Given the description of an element on the screen output the (x, y) to click on. 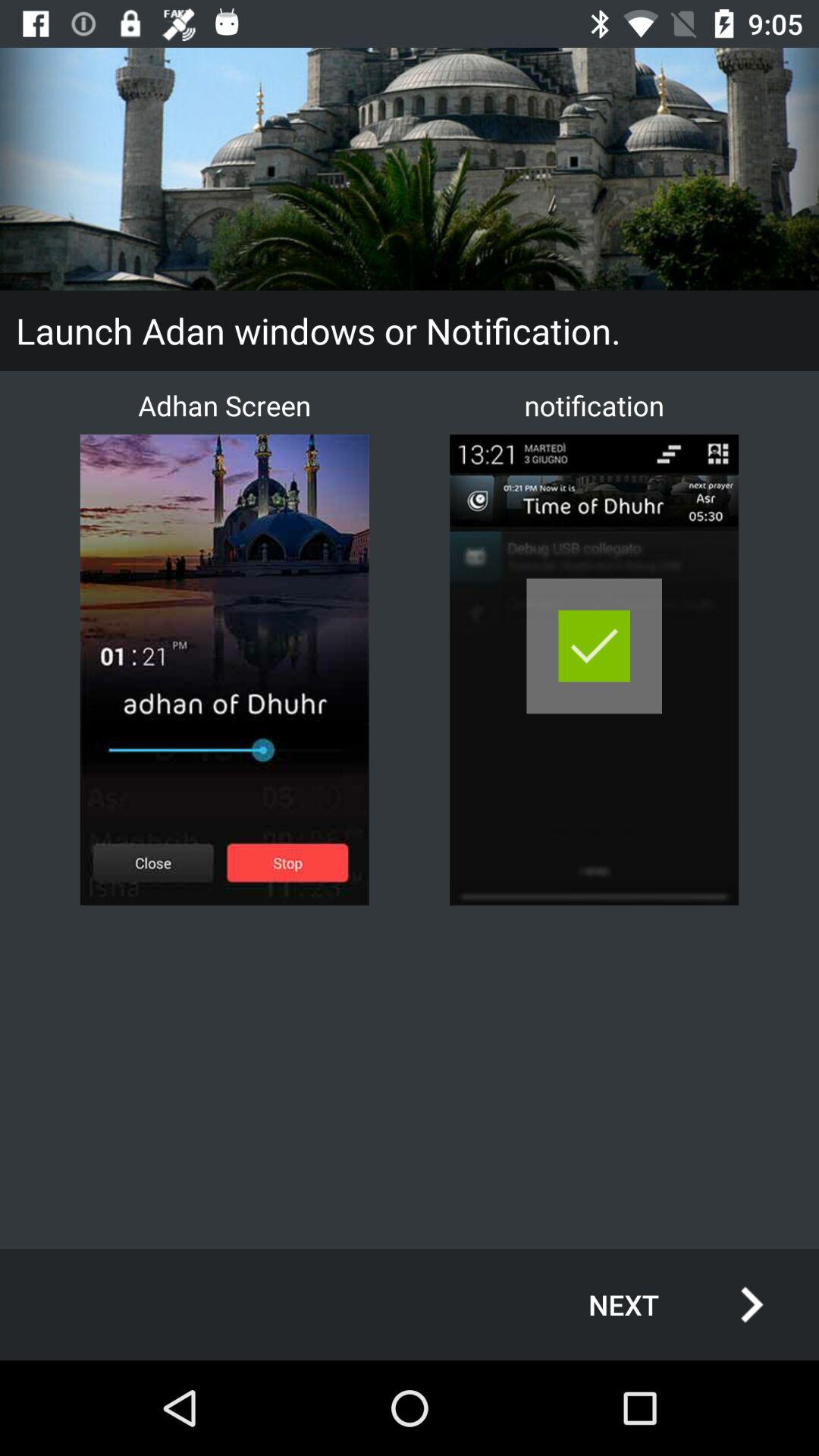
click next (659, 1304)
